Given the description of an element on the screen output the (x, y) to click on. 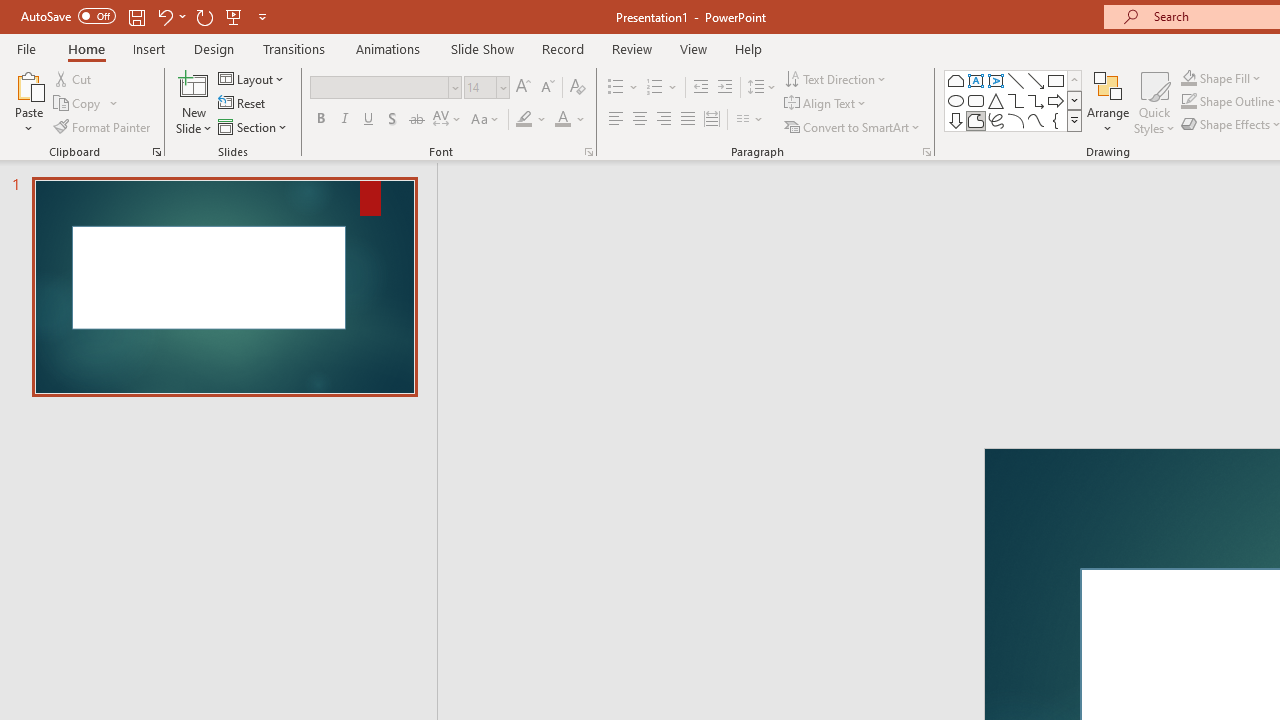
Align Text (826, 103)
Cut (73, 78)
Freeform: Scribble (995, 120)
Shadow (392, 119)
Rectangle: Top Corners Snipped (955, 80)
Reset (243, 103)
Bold (320, 119)
Decrease Font Size (547, 87)
Paragraph... (926, 151)
Text Highlight Color (531, 119)
